Given the description of an element on the screen output the (x, y) to click on. 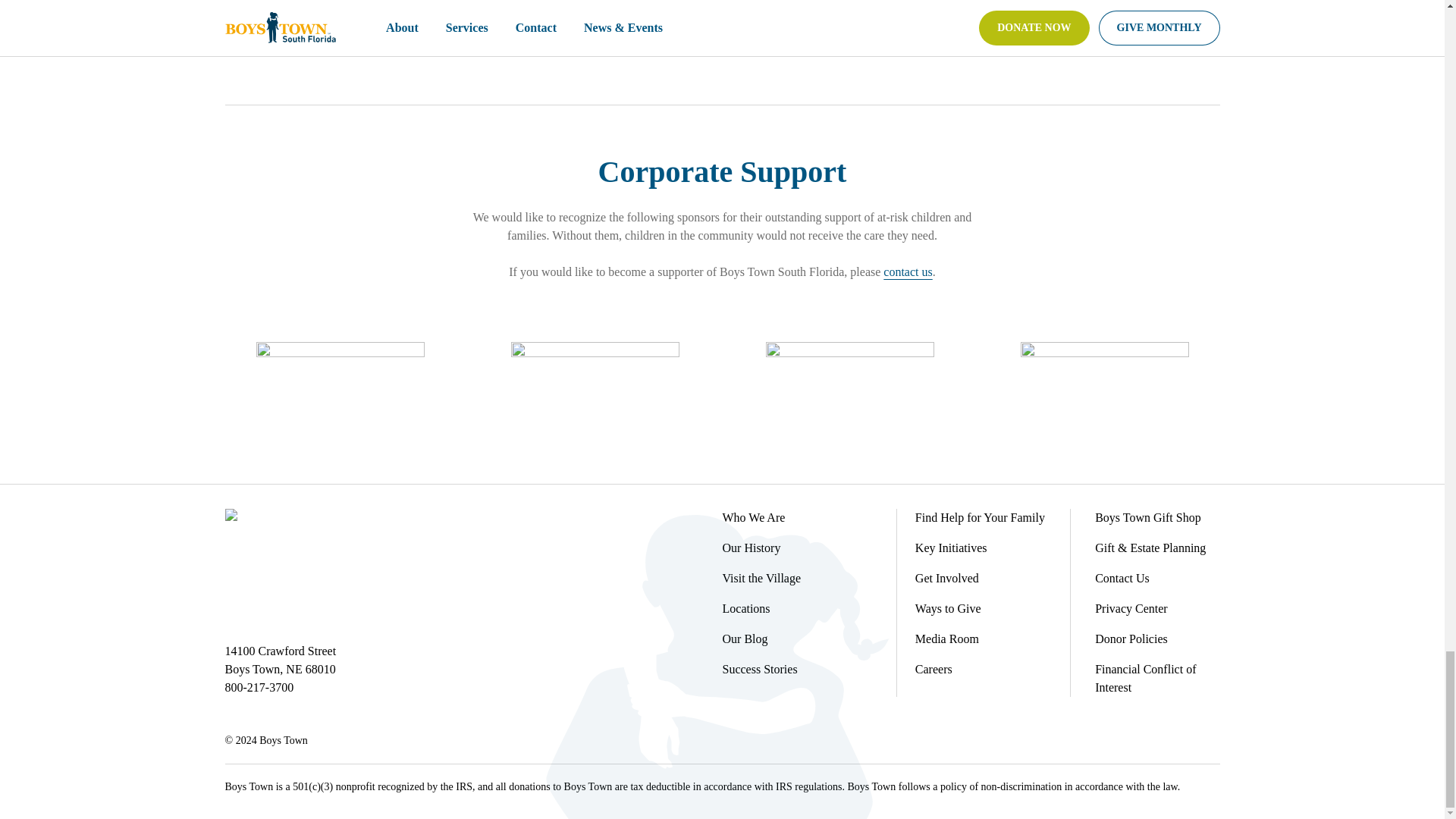
Who We Are (753, 517)
Visit the Village (761, 577)
contact us (907, 271)
Locations (746, 608)
Our History (751, 547)
Our Blog (744, 638)
